Given the description of an element on the screen output the (x, y) to click on. 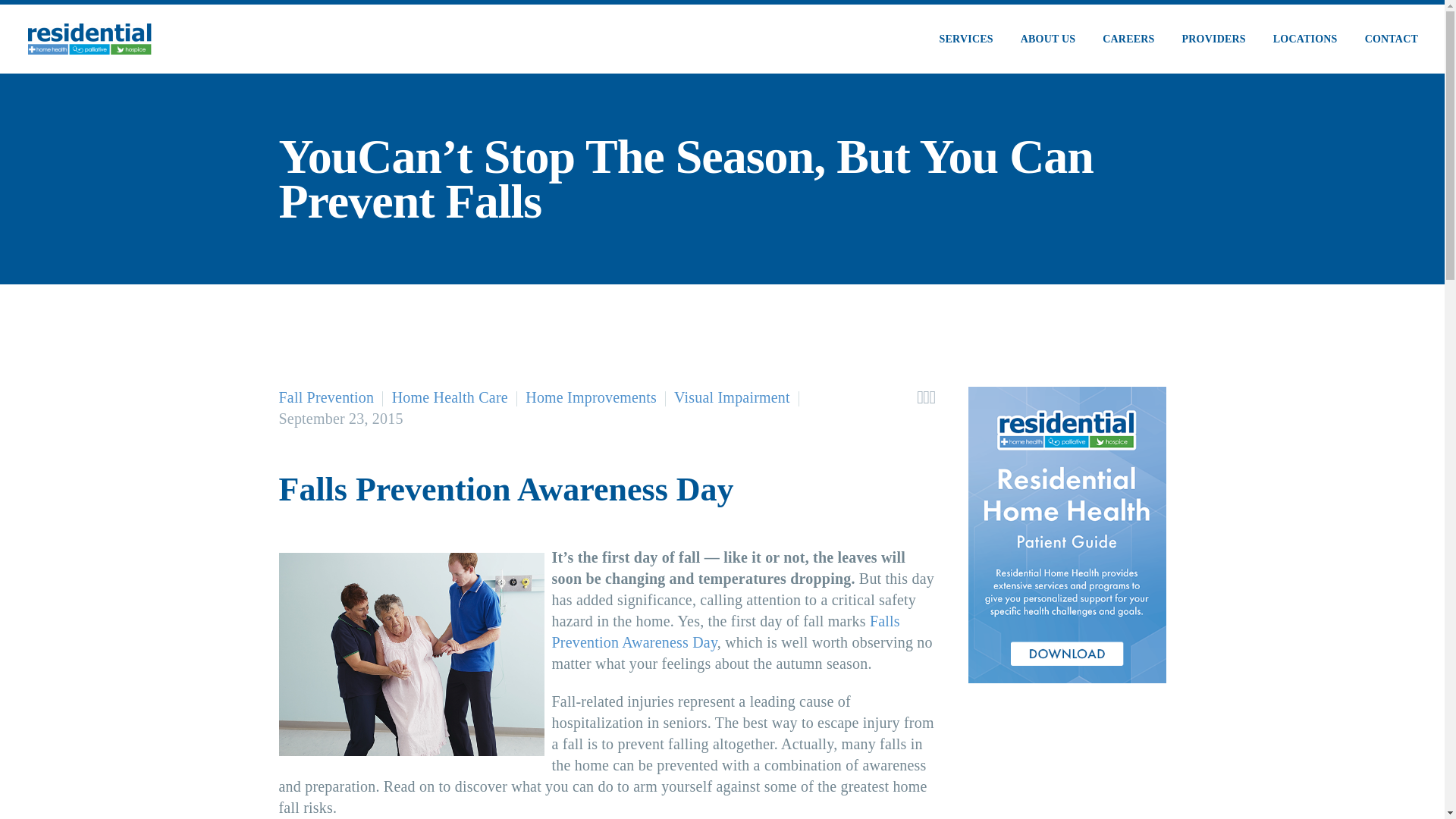
View all posts in Fall Prevention (326, 397)
View all posts in Home Health Care (449, 397)
CAREERS (1128, 38)
SERVICES (966, 38)
ABOUT US (1048, 38)
PROVIDERS (1213, 38)
LOCATIONS (1305, 38)
View all posts in Home Improvements (590, 397)
